Given the description of an element on the screen output the (x, y) to click on. 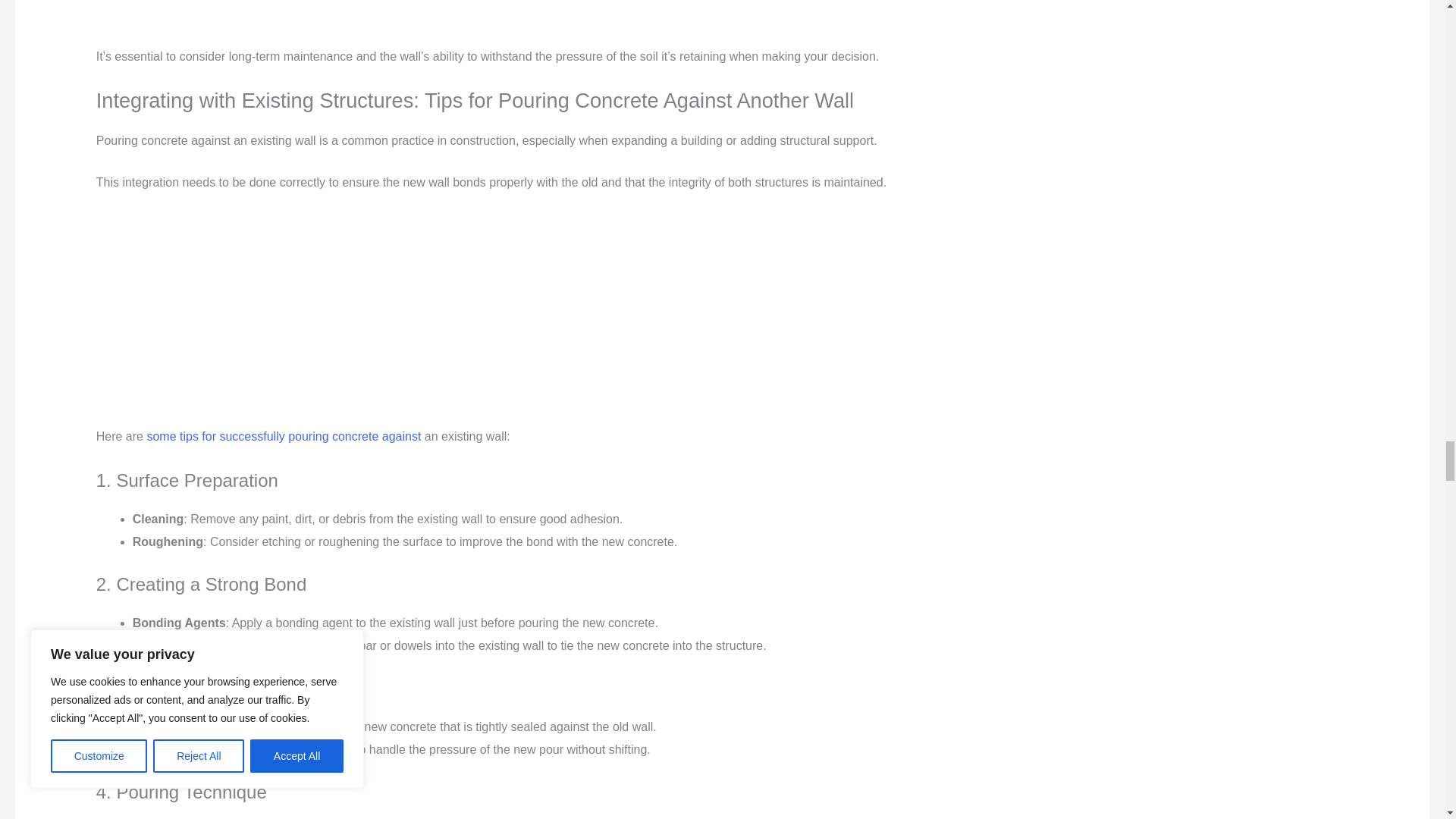
some tips for successfully pouring concrete against (283, 436)
